Given the description of an element on the screen output the (x, y) to click on. 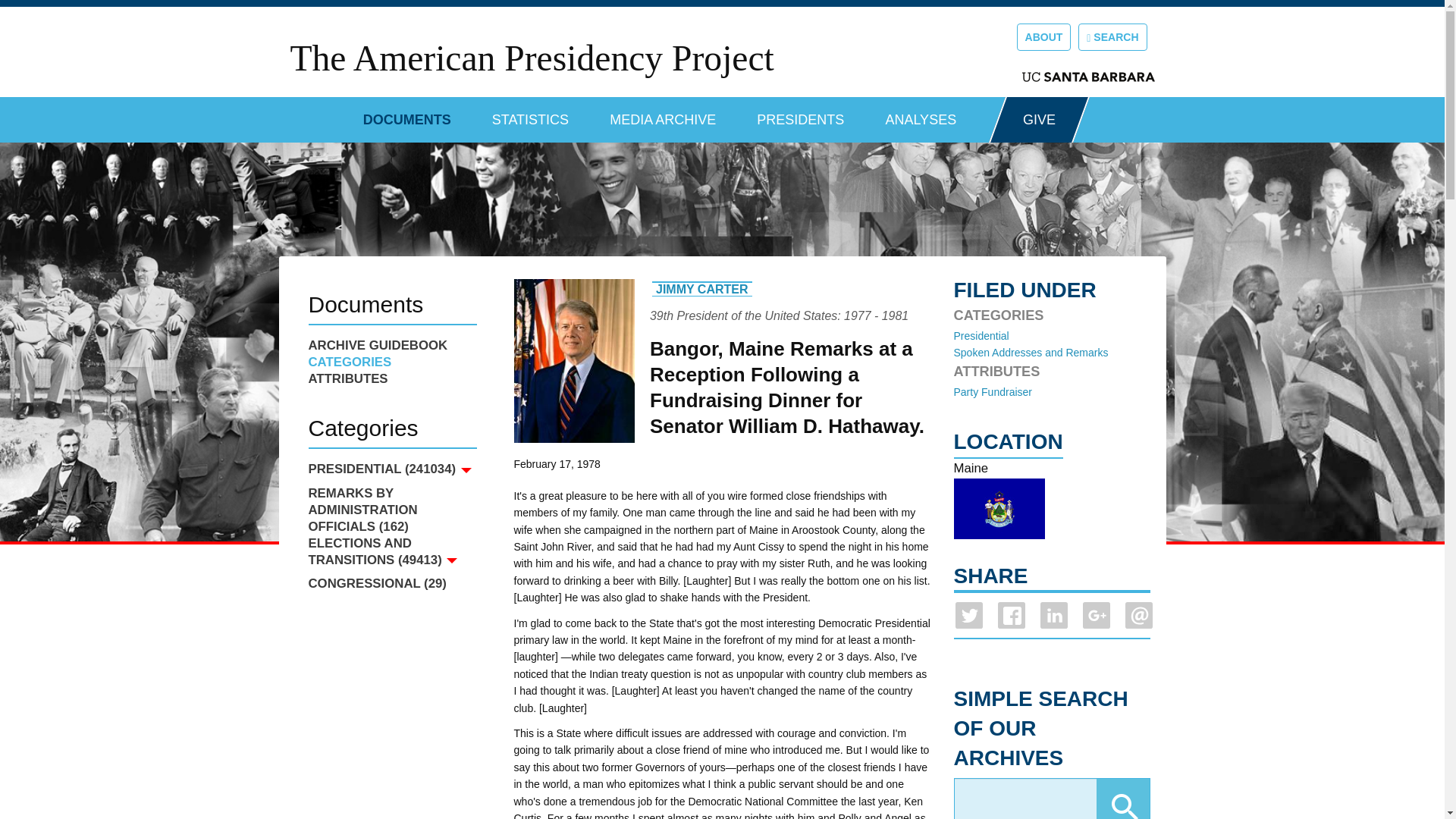
PRESIDENTS (800, 113)
ANALYSES (920, 113)
ABOUT (1043, 36)
GIVE (1038, 119)
ATTRIBUTES (391, 379)
ARCHIVE GUIDEBOOK (391, 345)
The American Presidency Project (531, 57)
CATEGORIES (391, 362)
MEDIA ARCHIVE (663, 113)
 SEARCH (1112, 36)
STATISTICS (530, 113)
DOCUMENTS (406, 113)
